Given the description of an element on the screen output the (x, y) to click on. 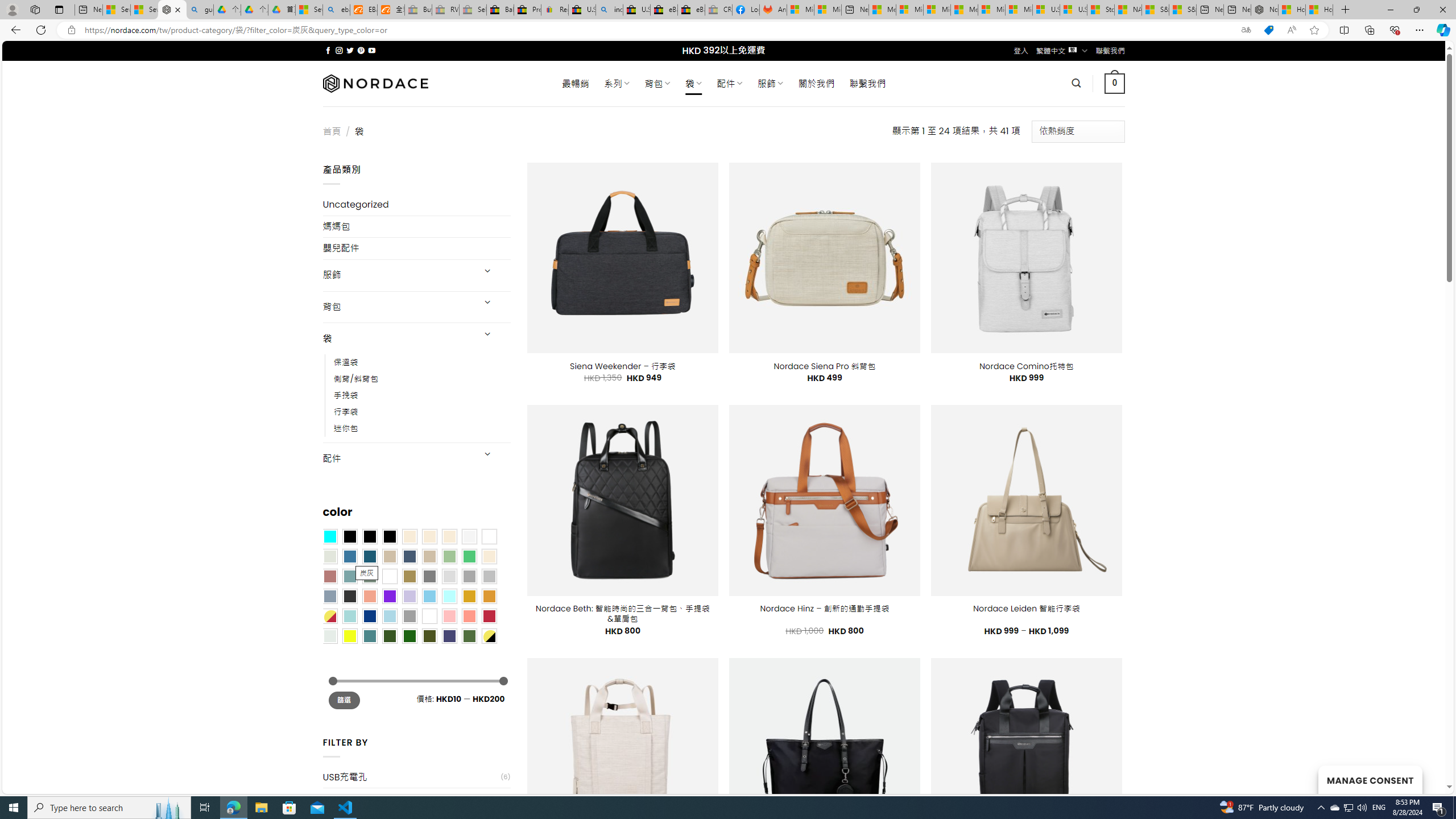
Dull Nickle (329, 635)
